Given the description of an element on the screen output the (x, y) to click on. 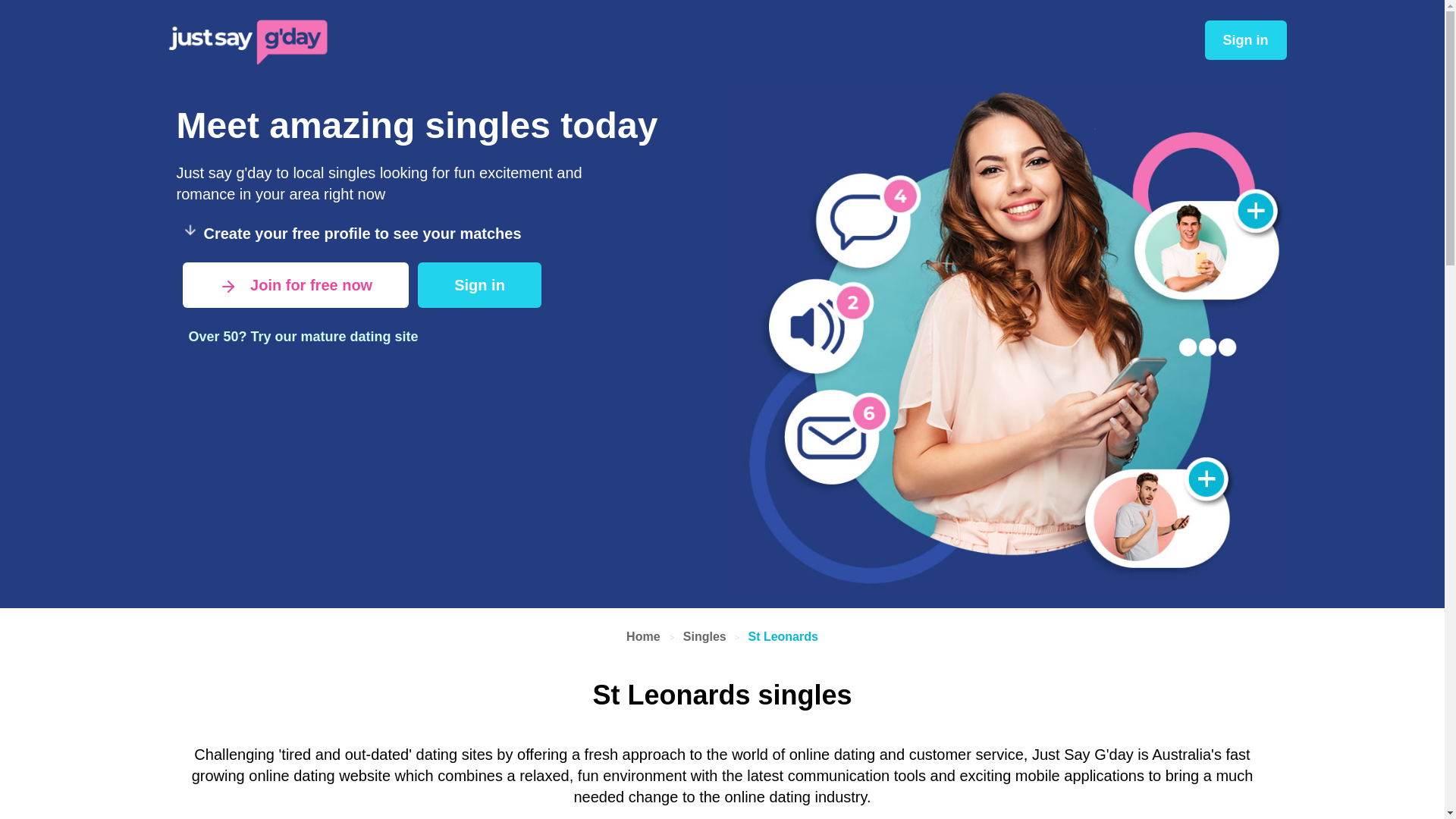
Join free (295, 284)
Sign in (479, 284)
over 50 dating Australia (302, 336)
Join for free now (295, 284)
Join for free now (295, 284)
Home (644, 635)
Singles (704, 635)
Over 50? Try our mature dating site (302, 336)
St Leonards (782, 635)
Sign in (1243, 39)
Sign in (477, 284)
Log in (1244, 39)
Sign in (479, 284)
Sign in (1244, 39)
